Given the description of an element on the screen output the (x, y) to click on. 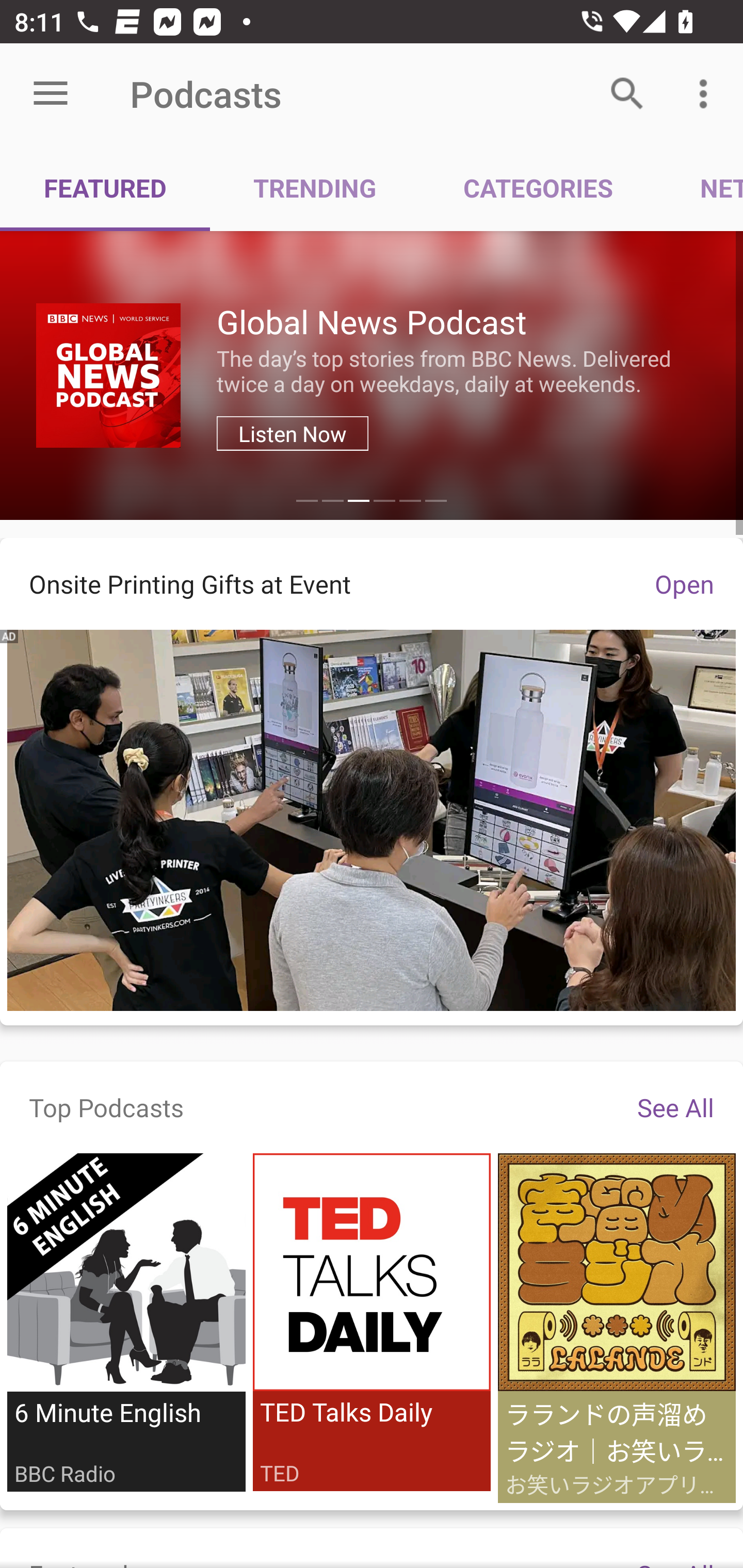
Open menu (50, 93)
Search (626, 93)
More options (706, 93)
FEATURED (105, 187)
TRENDING (314, 187)
CATEGORIES (537, 187)
Onsite Printing Gifts at Event (312, 583)
Open (684, 583)
Top Podcasts (106, 1106)
See All (675, 1106)
6 Minute English BBC Radio (126, 1322)
TED Talks Daily TED (371, 1322)
ラランドの声溜めラジオ｜お笑いラジオアプリGERA お笑いラジオアプリGERA (616, 1328)
